Given the description of an element on the screen output the (x, y) to click on. 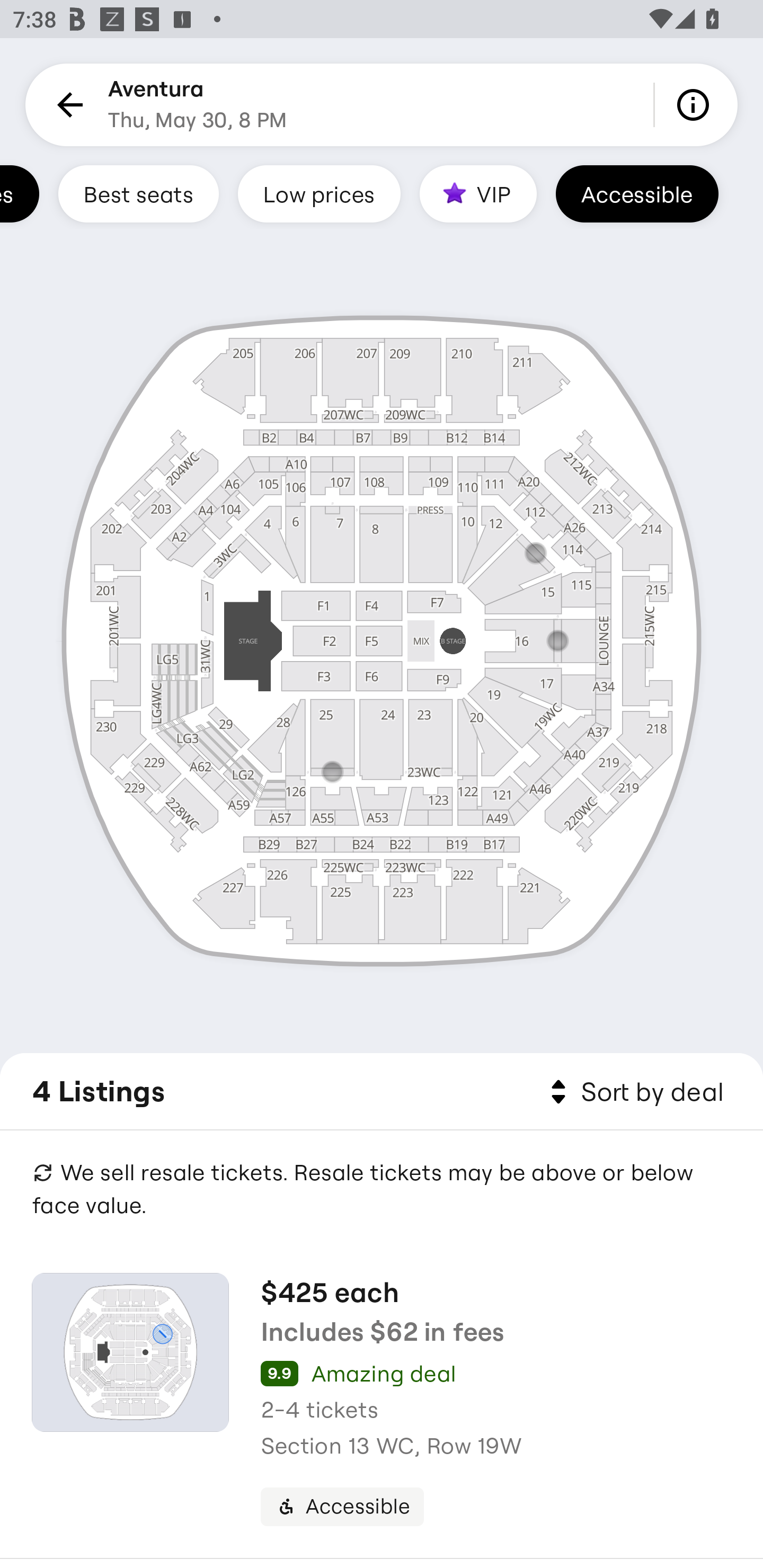
Back (66, 104)
Aventura Thu, May 30, 8 PM (197, 104)
Info (695, 104)
Best seats (137, 193)
Low prices (319, 193)
VIP (477, 193)
Accessible (636, 193)
Sort by deal (633, 1091)
